Given the description of an element on the screen output the (x, y) to click on. 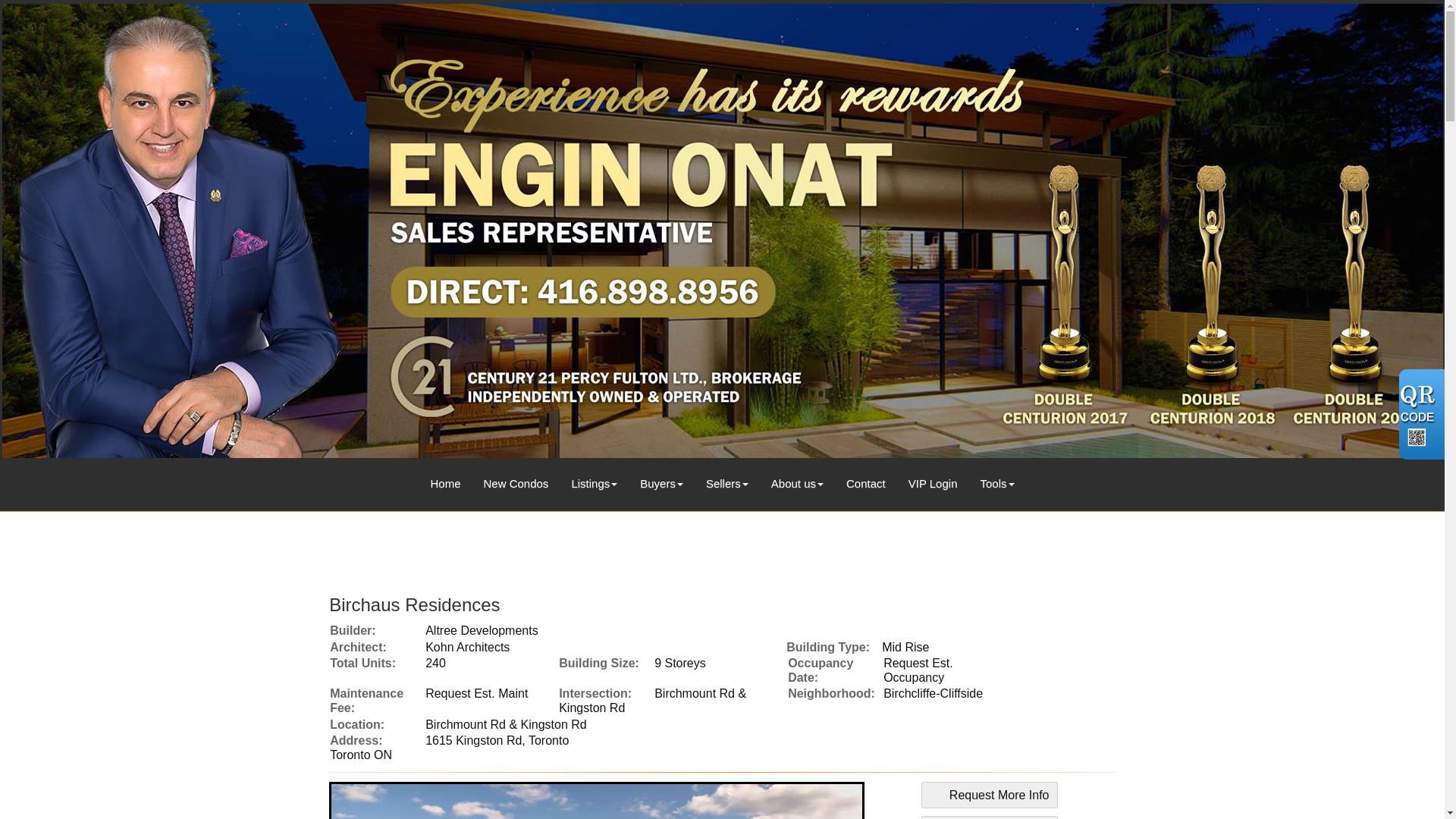
Contact (865, 479)
Buyers (661, 479)
New Condos (515, 479)
Listings (593, 479)
Previous Image (357, 801)
Home (445, 479)
VIP Login (932, 479)
Feature Sheet (989, 817)
Tools (996, 479)
About us (797, 479)
Request More Info (989, 795)
Sellers (727, 479)
Next Image (835, 801)
